Given the description of an element on the screen output the (x, y) to click on. 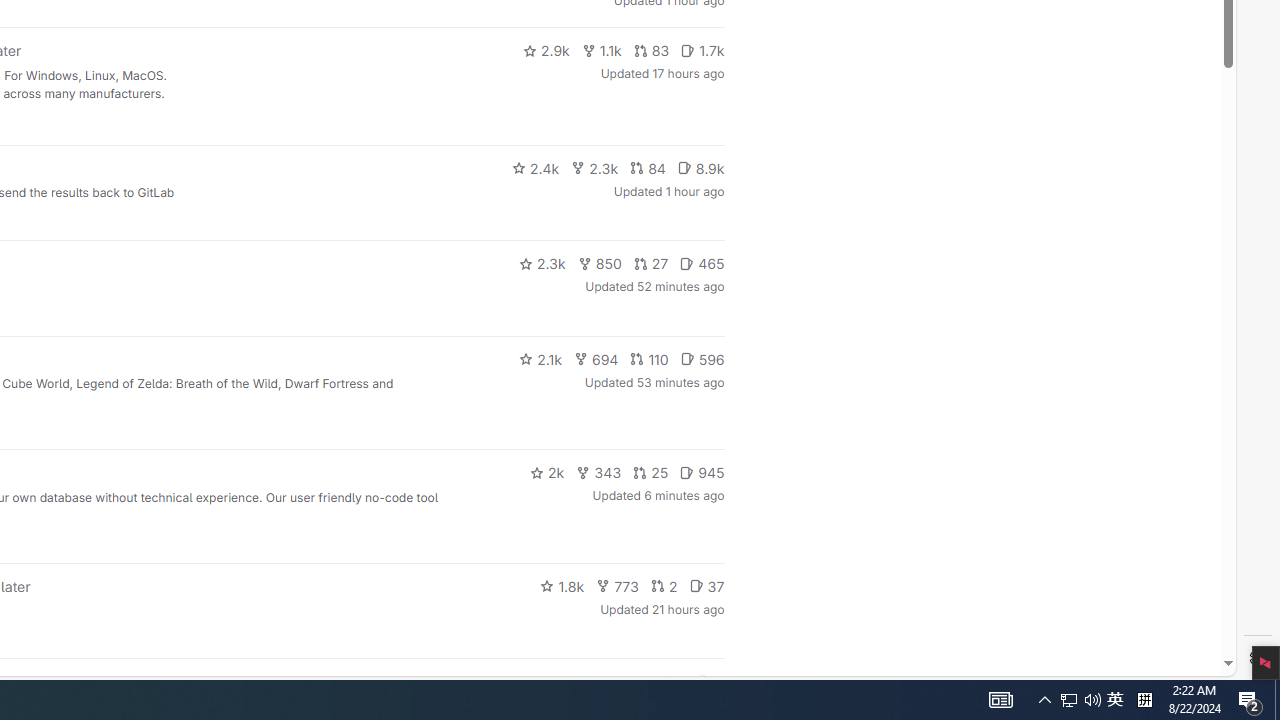
8.9k (700, 167)
465 (701, 263)
143 (629, 681)
6 (710, 681)
1 (673, 681)
343 (599, 472)
1.4k (573, 681)
1.1k (601, 50)
1.7k (702, 50)
84 (647, 167)
773 (618, 585)
Class: s14 gl-mr-2 (704, 681)
694 (596, 358)
